Given the description of an element on the screen output the (x, y) to click on. 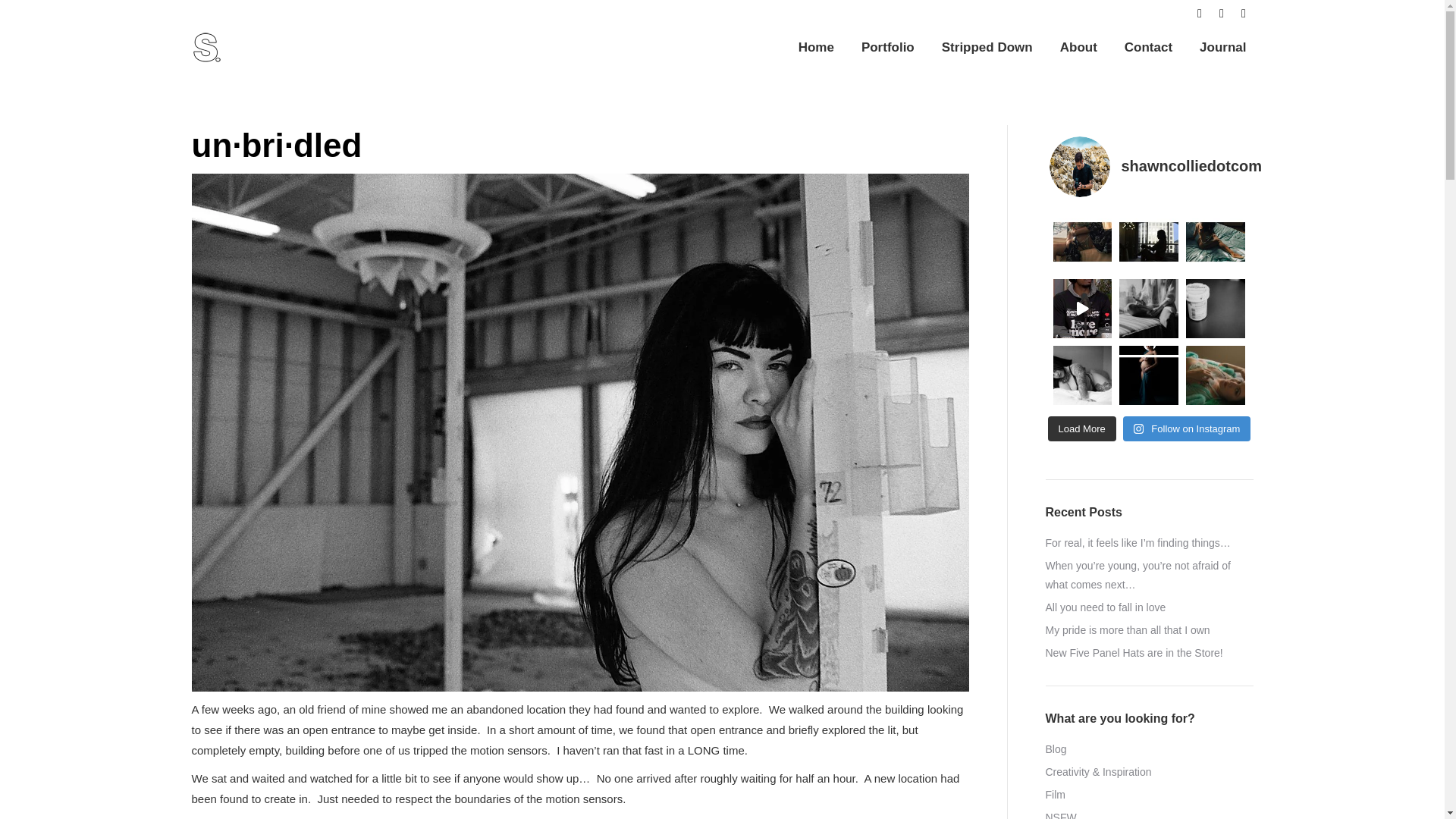
Portfolio (888, 47)
Facebook page opens in new window (1200, 13)
Instagram page opens in new window (1220, 13)
Mail page opens in new window (1243, 13)
Contact (1147, 47)
About (1078, 47)
Mail page opens in new window (1243, 13)
Facebook page opens in new window (1200, 13)
Instagram page opens in new window (1220, 13)
Stripped Down (987, 47)
Journal (1222, 47)
Home (815, 47)
